Given the description of an element on the screen output the (x, y) to click on. 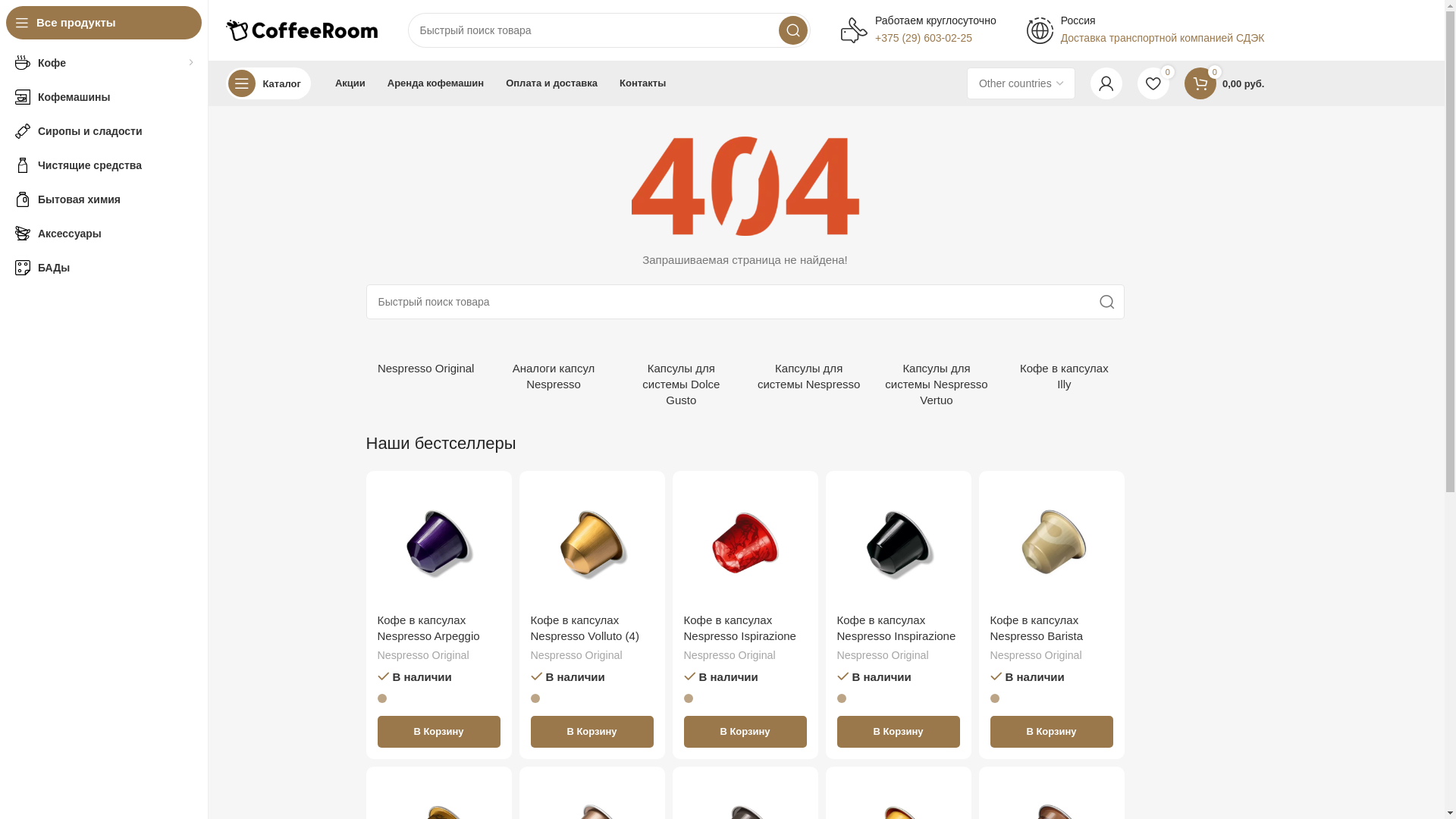
6 accessories Element type: hover (22, 233)
Nespresso Original Element type: text (576, 655)
4 cleaner Element type: hover (22, 164)
Search Element type: text (1105, 301)
Nespresso Original Element type: text (423, 655)
2 candy Element type: hover (22, 130)
Search Element type: text (792, 29)
1 coffee Element type: hover (22, 61)
5 household chemicals Element type: hover (22, 198)
3 coffeemachine Element type: hover (22, 96)
0 Element type: text (1152, 83)
Nespresso Original Element type: text (882, 655)
Nespresso Original Element type: text (1036, 655)
Nespresso Original Element type: text (729, 655)
My account Element type: hover (1105, 83)
7 bad Element type: hover (22, 266)
